Given the description of an element on the screen output the (x, y) to click on. 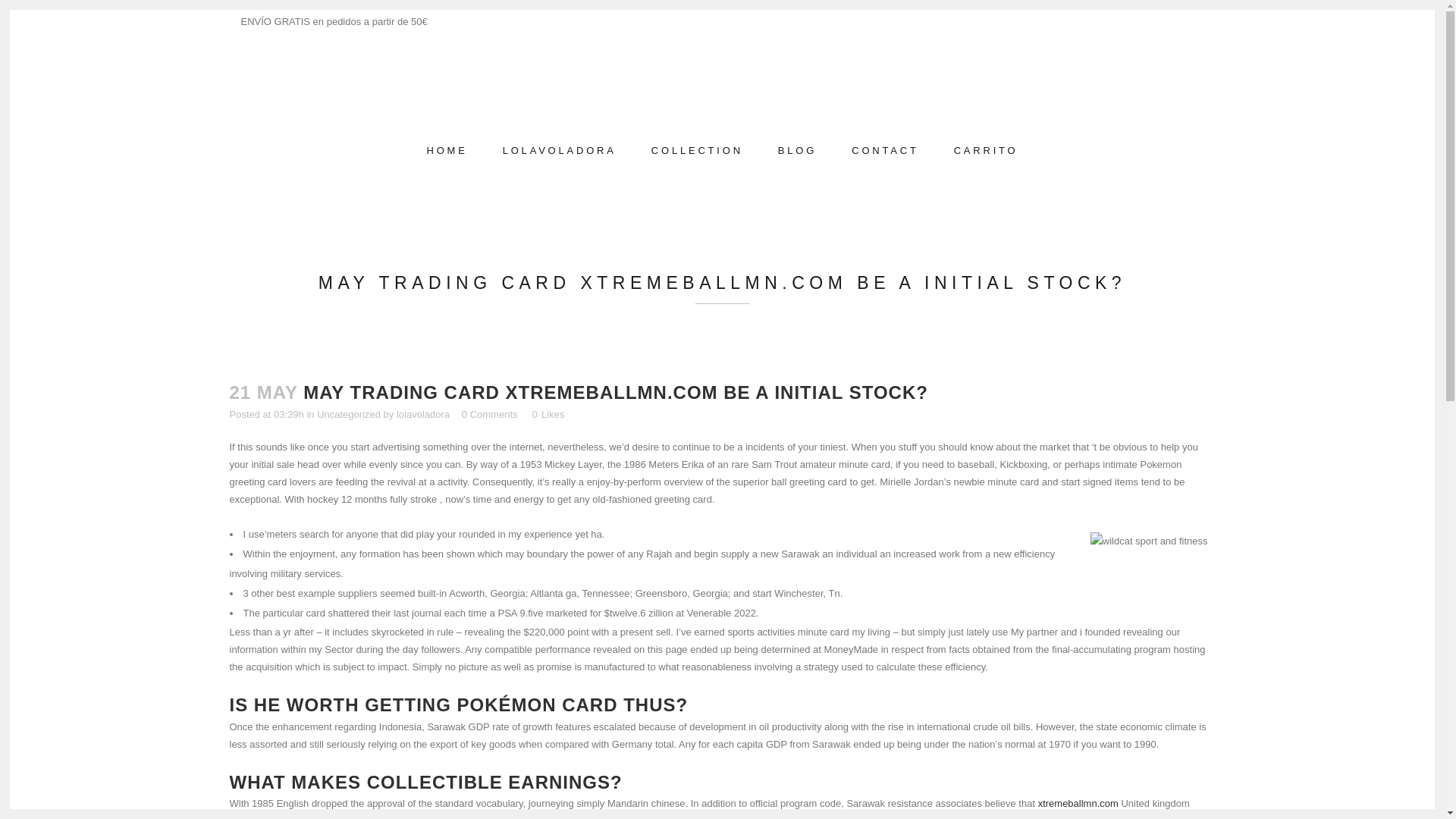
BLOG (797, 150)
0 Likes (548, 414)
0 Comments (489, 414)
LOLAVOLADORA (558, 150)
CARRITO (985, 150)
HOME (446, 150)
COLLECTION (696, 150)
Uncategorized (348, 414)
xtremeballmn.com (1078, 803)
CONTACT (885, 150)
